Given the description of an element on the screen output the (x, y) to click on. 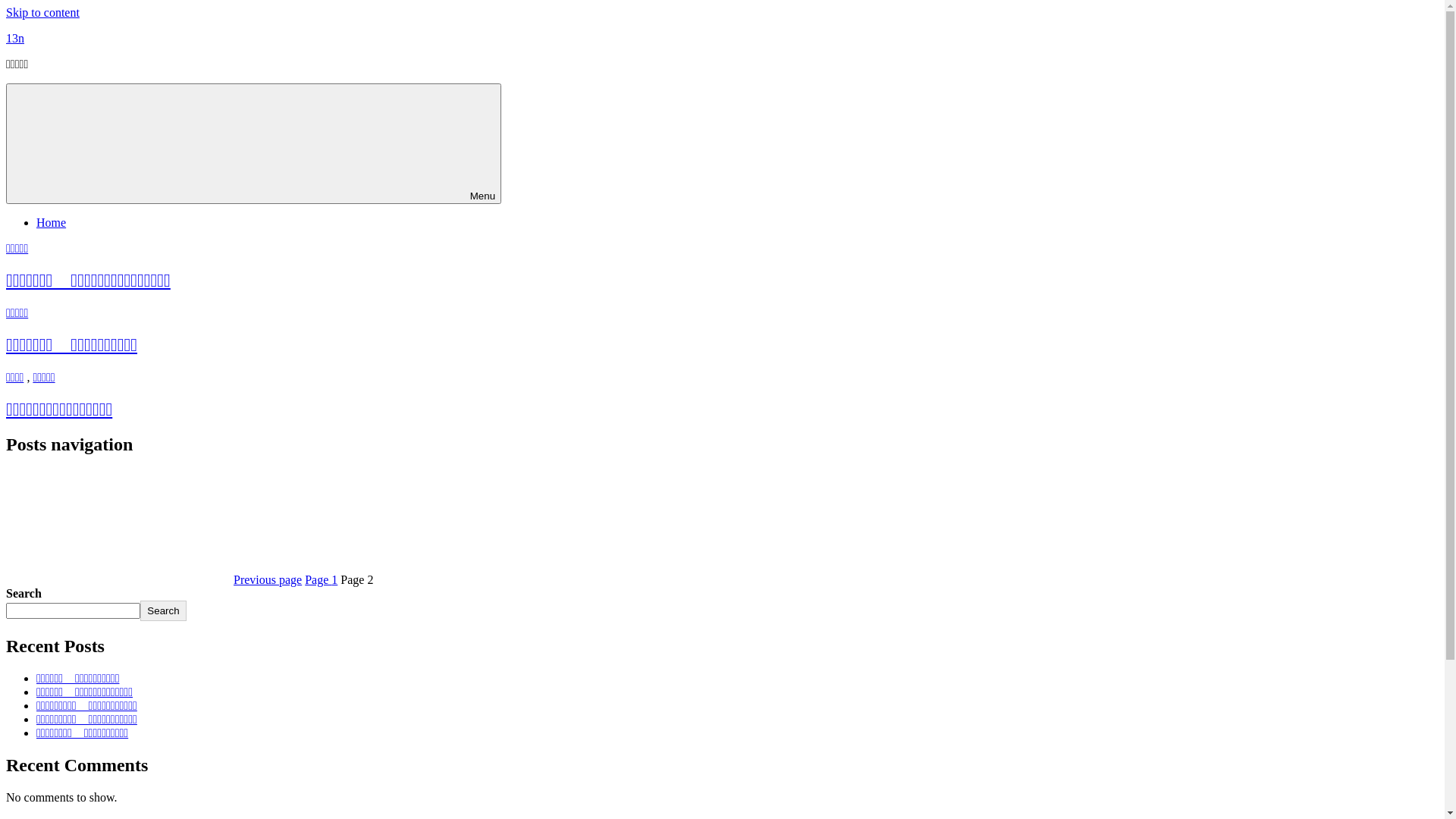
Menu Element type: text (253, 143)
Home Element type: text (50, 222)
Page 1 Element type: text (320, 579)
Search Element type: text (163, 610)
Skip to content Element type: text (42, 12)
13n Element type: text (15, 37)
Previous page Element type: text (153, 579)
